Given the description of an element on the screen output the (x, y) to click on. 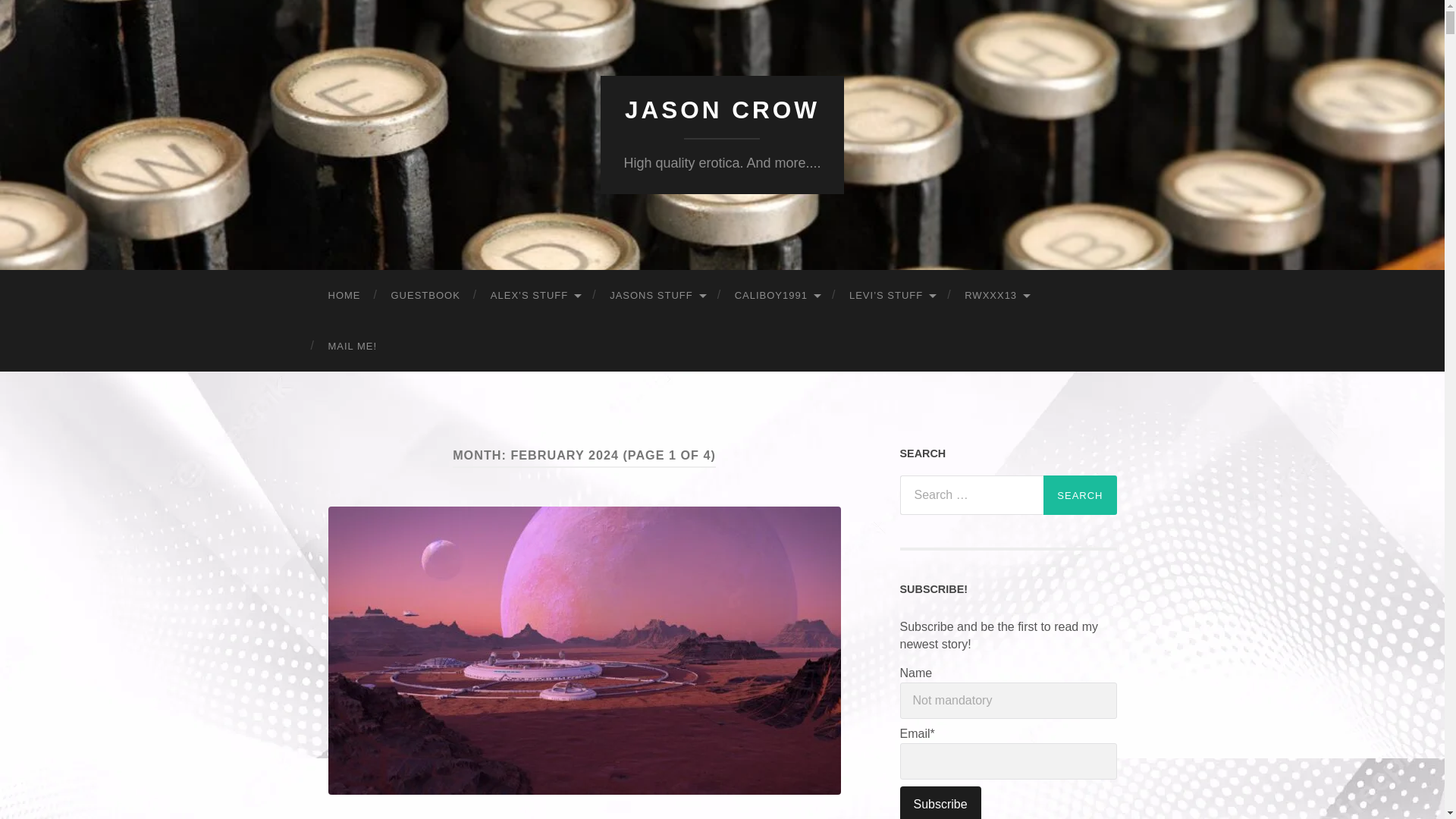
GUESTBOOK (425, 295)
JASON CROW (721, 109)
HOME (344, 295)
Subscribe (939, 802)
JASONS STUFF (656, 295)
Search (1079, 495)
Search (1079, 495)
